Given the description of an element on the screen output the (x, y) to click on. 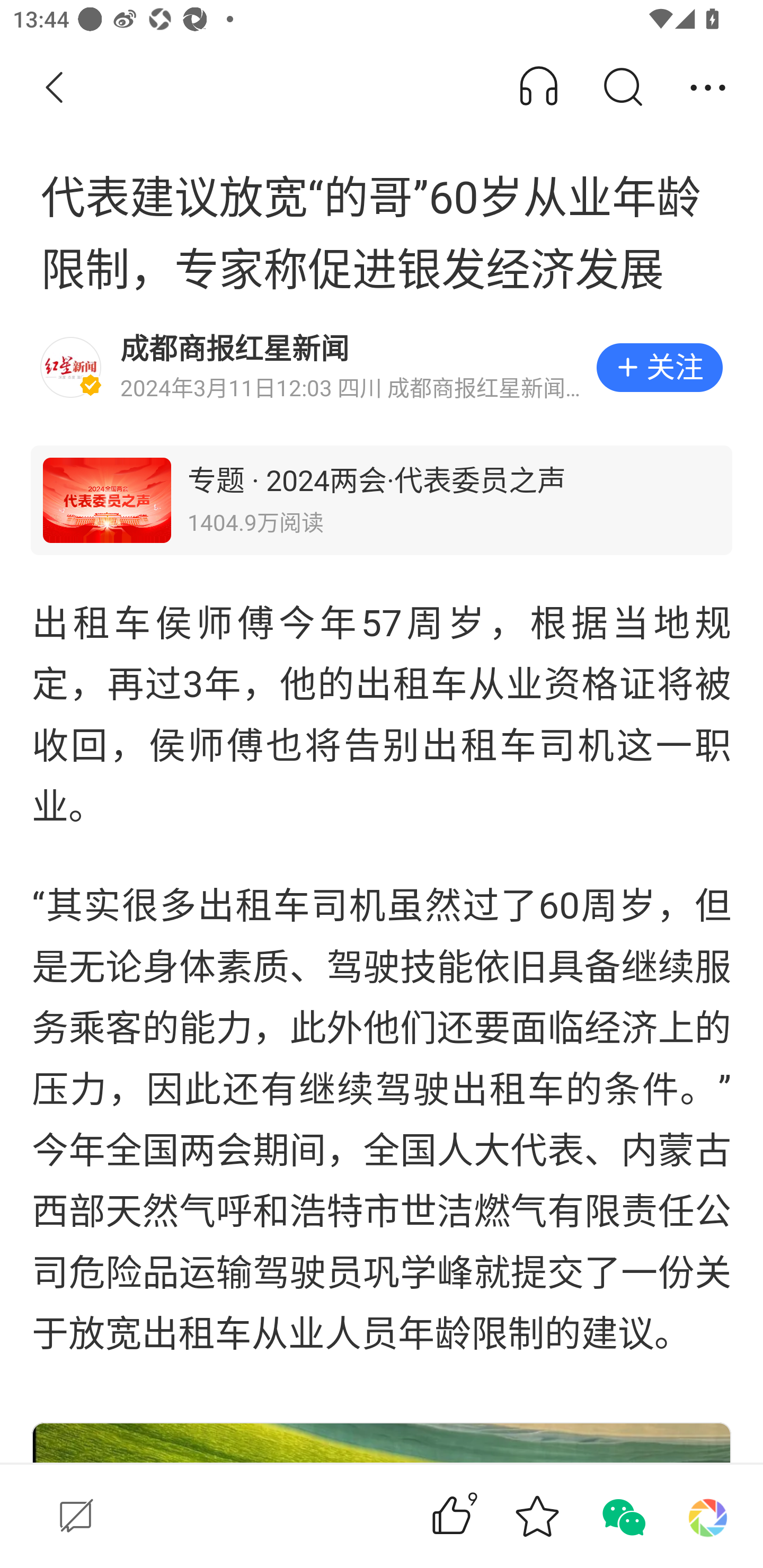
搜索  (622, 87)
分享  (707, 87)
 返回 (54, 87)
成都商报红星新闻 2024年3月11日12:03 四川 成都商报红星新闻官方账号  关注 (381, 367)
 关注 (659, 367)
专题 ·  2024两会·代表委员之声 1404.9万阅读 (381, 500)
发表评论  发表评论 (199, 1516)
9赞 (476, 1516)
收藏  (536, 1516)
分享到微信  (622, 1516)
分享到朋友圈 (707, 1516)
